Given the description of an element on the screen output the (x, y) to click on. 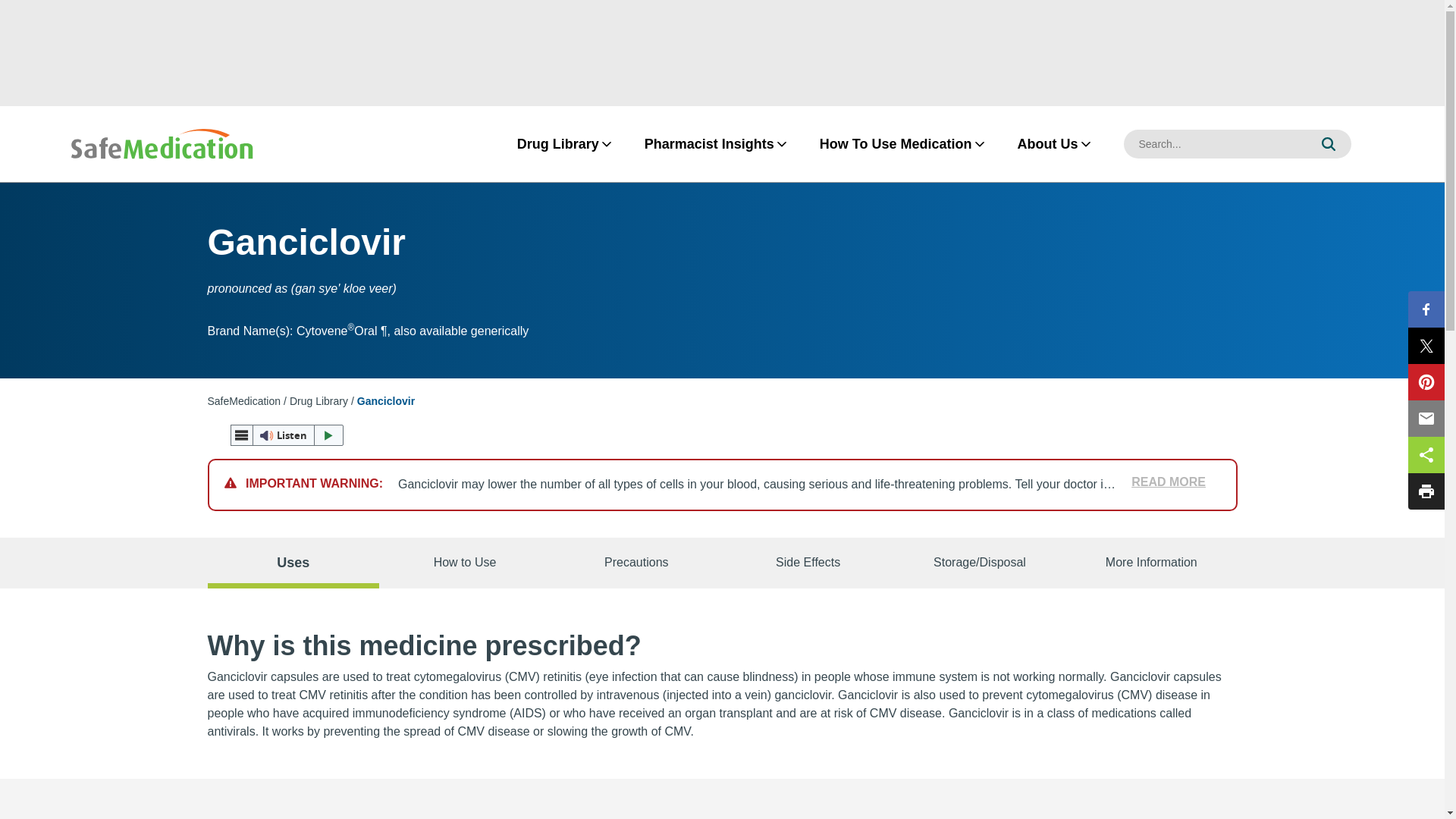
Pharmacist Insights (708, 143)
About Us (1047, 143)
How to Use (464, 562)
Listen (286, 435)
Drug Library (318, 400)
webReader menu (241, 435)
Precautions (636, 562)
IMPORTANT WARNING: (310, 484)
How To Use Medication (895, 143)
Drug Library (558, 143)
